Given the description of an element on the screen output the (x, y) to click on. 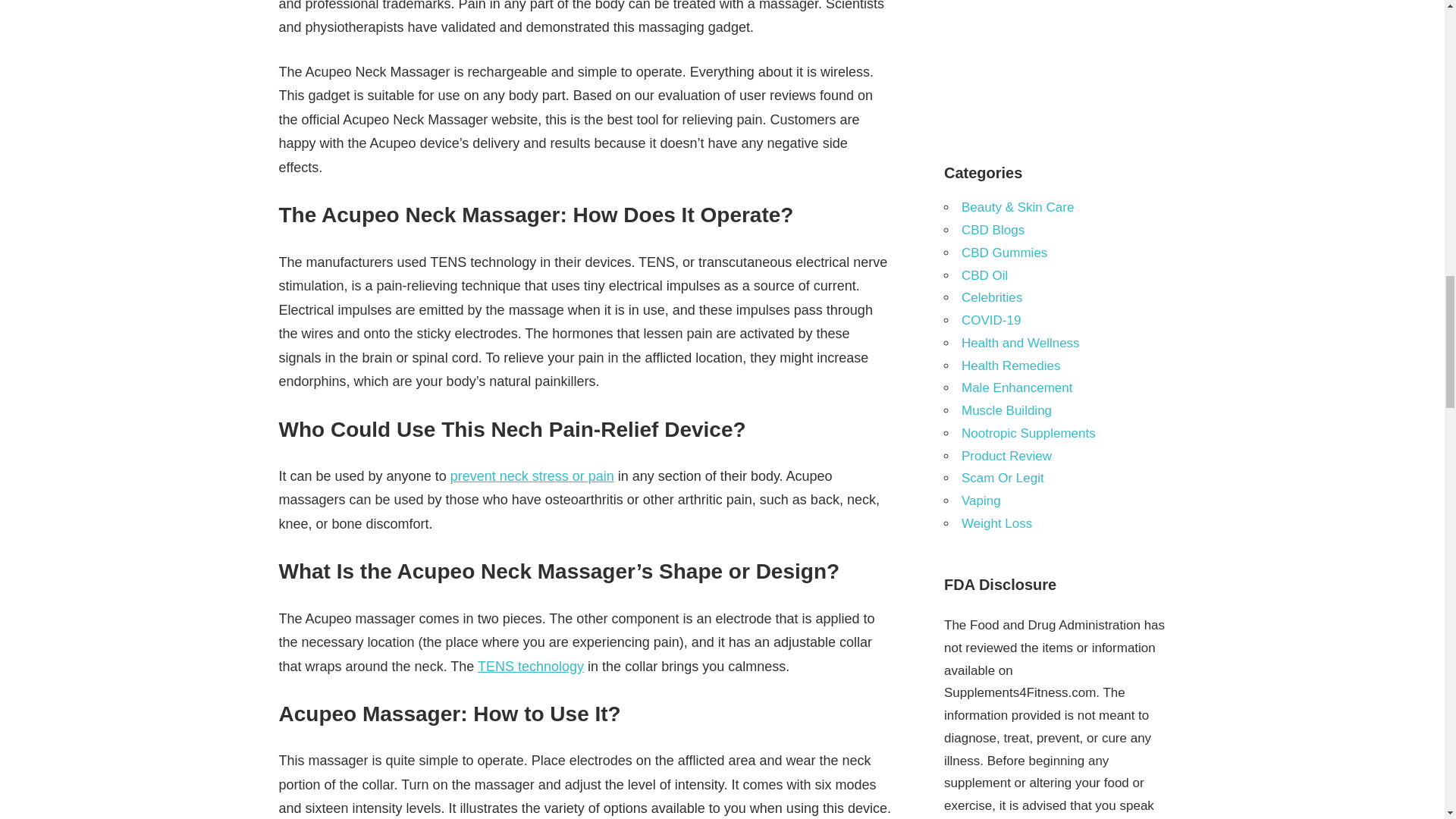
prevent neck stress or pain (531, 476)
TENS technology (530, 666)
